Given the description of an element on the screen output the (x, y) to click on. 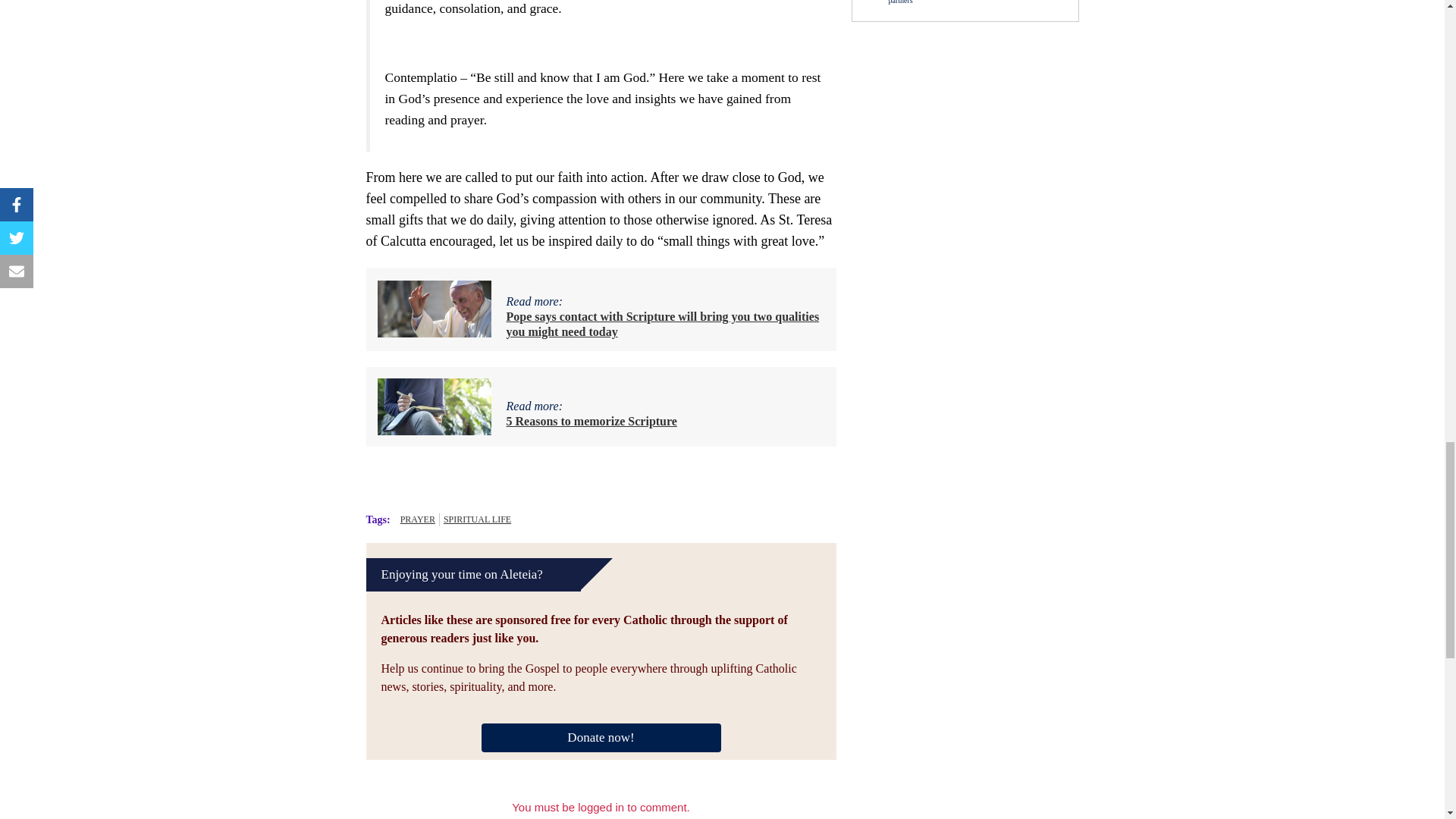
5 Reasons to memorize Scripture (591, 420)
